Given the description of an element on the screen output the (x, y) to click on. 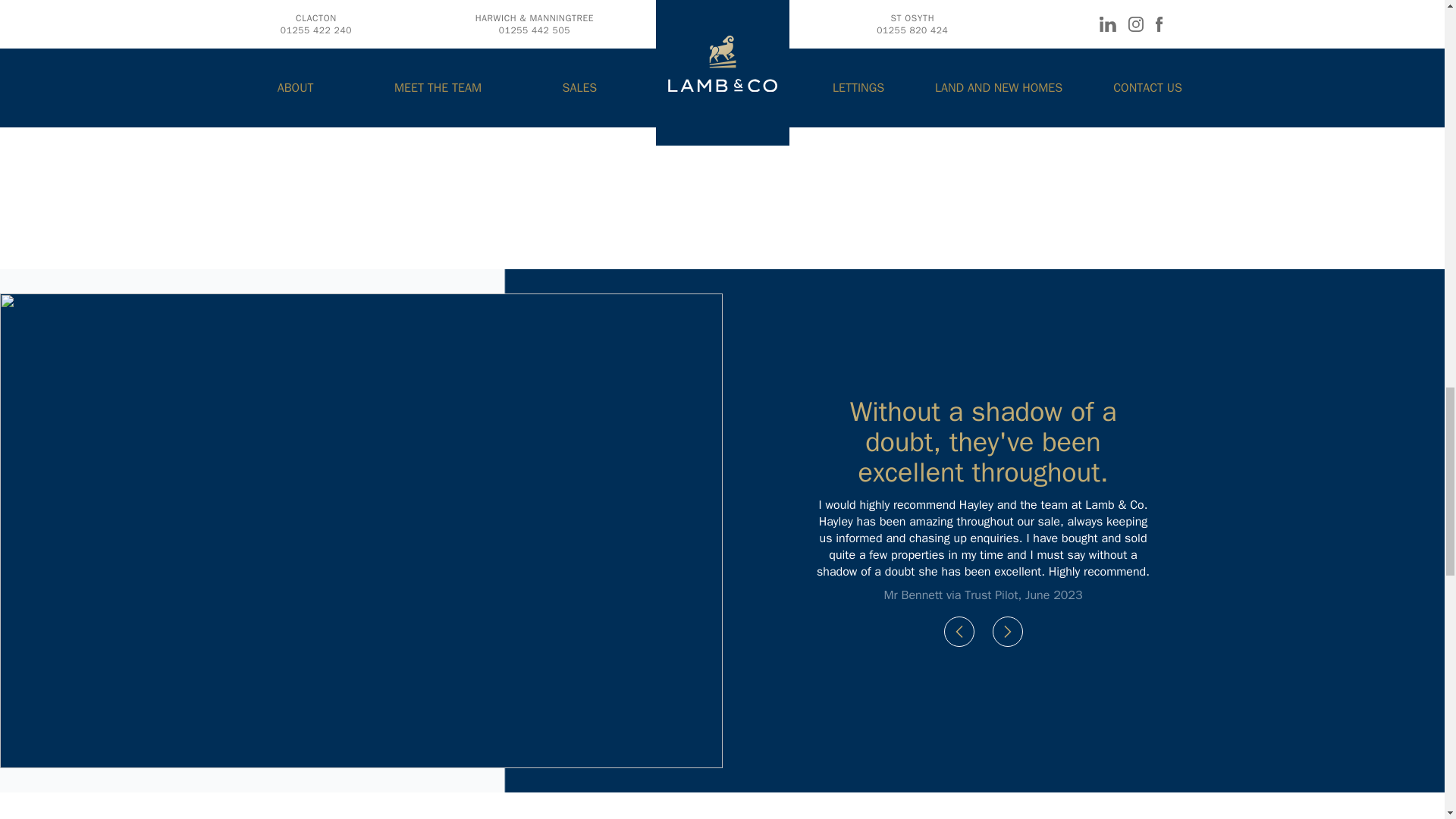
Buy or Let (719, 101)
VIEW ALL (1206, 99)
